Given the description of an element on the screen output the (x, y) to click on. 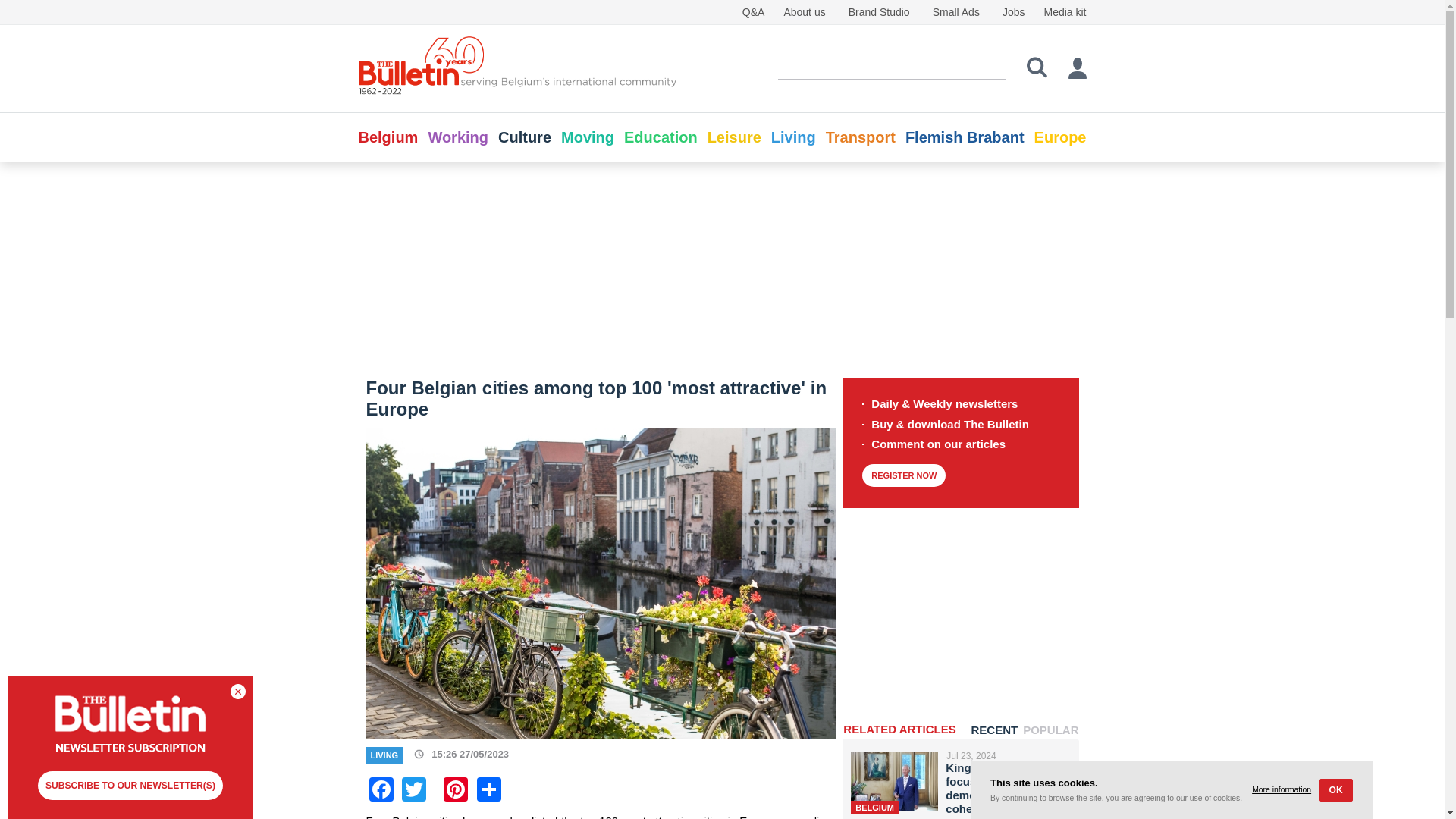
Belgium (387, 136)
Transport (860, 136)
Search (1037, 67)
Brand Studio (879, 11)
POPULAR (1050, 730)
Moving (587, 136)
Working (457, 136)
Culture (524, 136)
Enter the terms you wish to search for. (891, 67)
Living (793, 136)
Small Ads (956, 11)
Education (660, 136)
REGISTER NOW (902, 475)
Jobs (1014, 11)
